Given the description of an element on the screen output the (x, y) to click on. 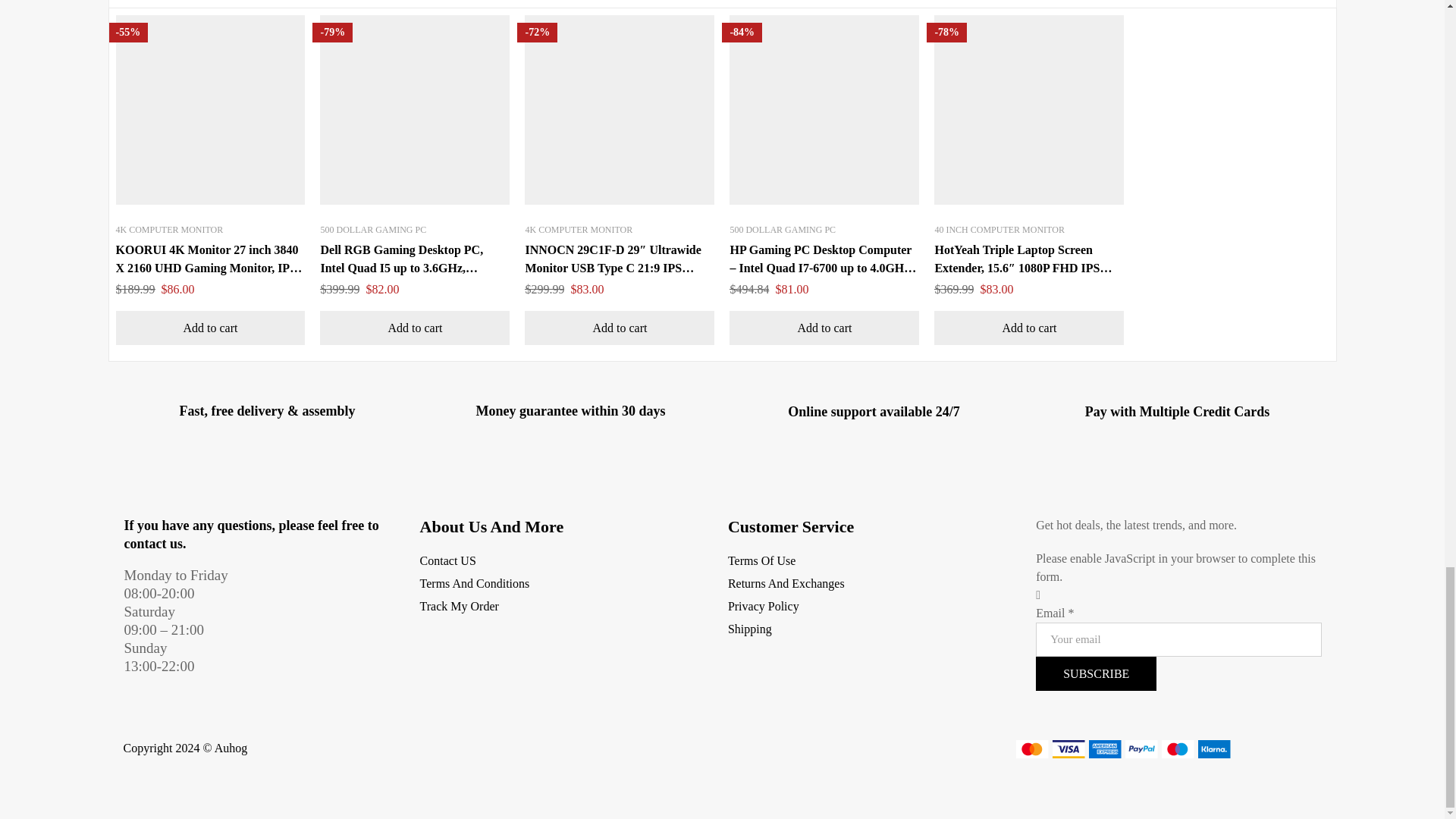
4K COMPUTER MONITOR (168, 229)
4K COMPUTER MONITOR (577, 229)
Add to cart (209, 327)
Add to cart (414, 327)
500 DOLLAR GAMING PC (373, 229)
